Given the description of an element on the screen output the (x, y) to click on. 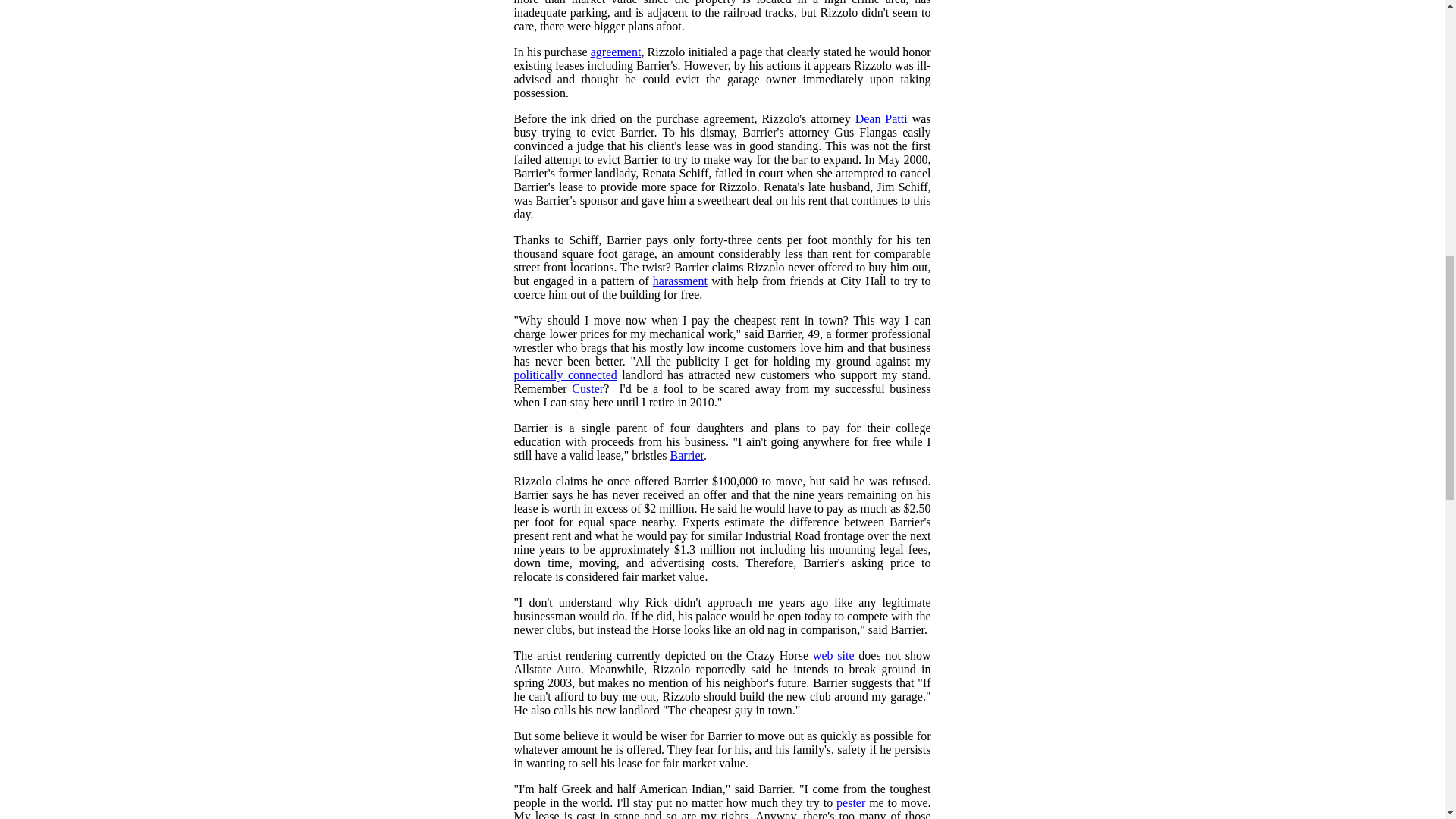
Dean Patti (881, 118)
pester (849, 802)
agreement (616, 51)
web site (833, 655)
Barrier (686, 454)
politically connected (565, 374)
Custer (588, 388)
harassment (679, 280)
